Given the description of an element on the screen output the (x, y) to click on. 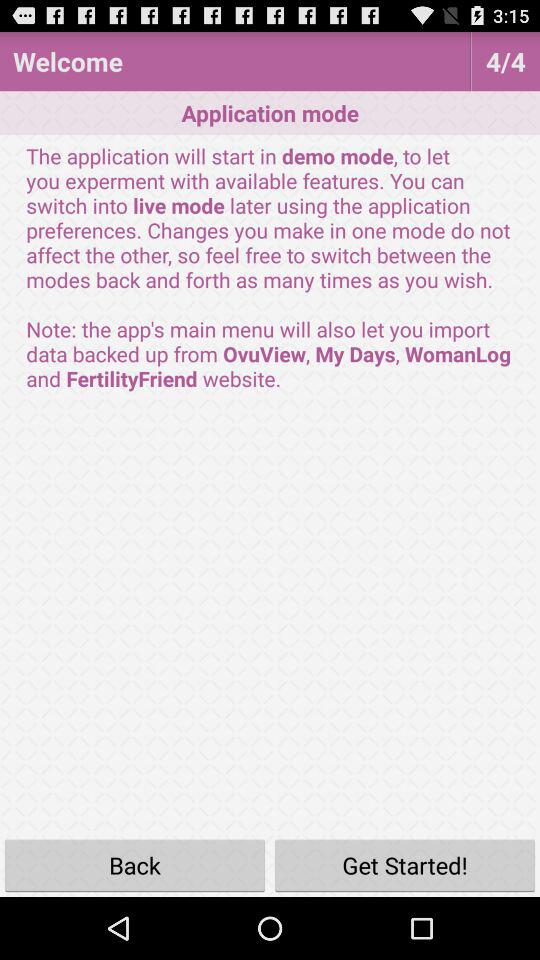
open app below the the application will icon (405, 864)
